Given the description of an element on the screen output the (x, y) to click on. 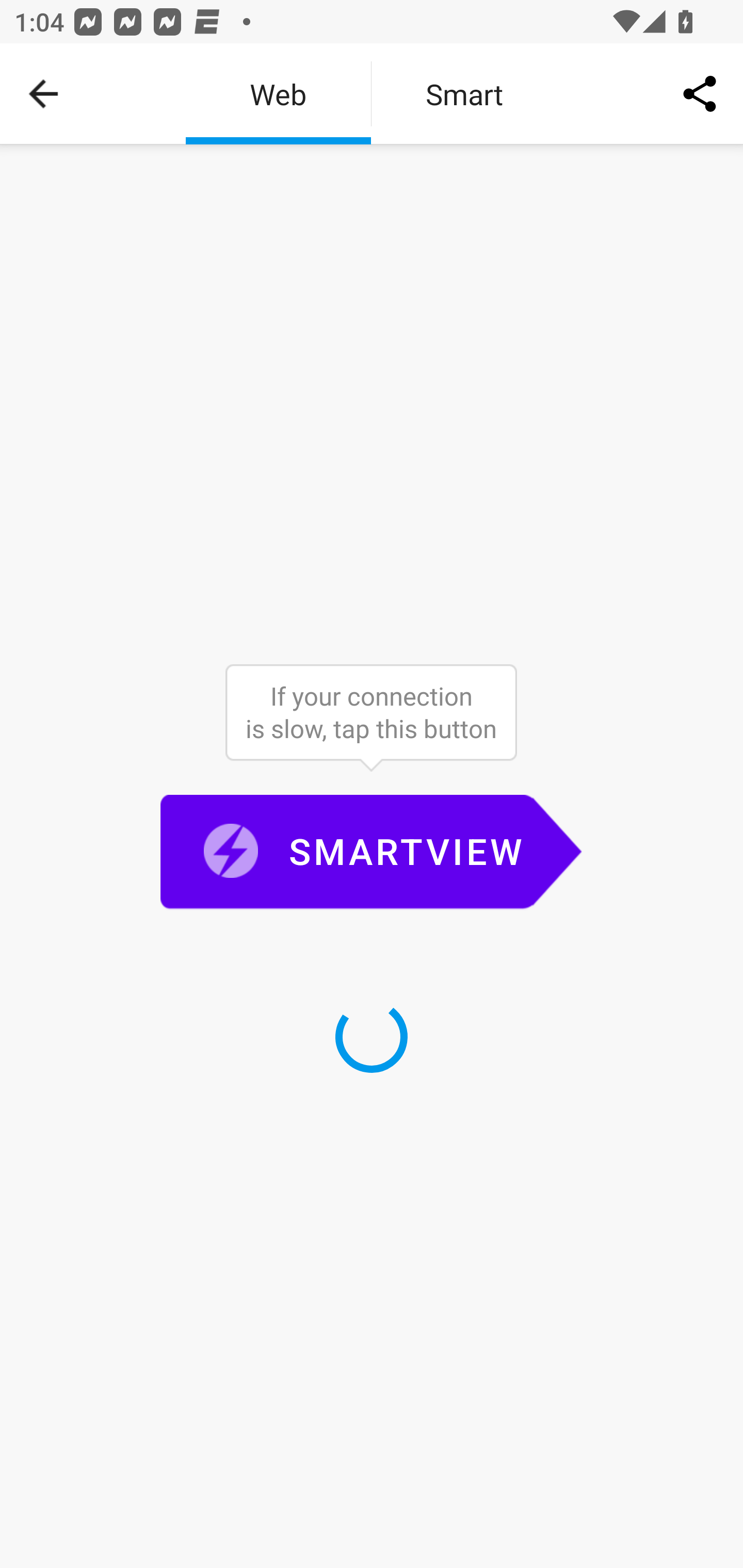
Web (277, 93)
Smart (464, 93)
SMARTVIEW (370, 852)
